Given the description of an element on the screen output the (x, y) to click on. 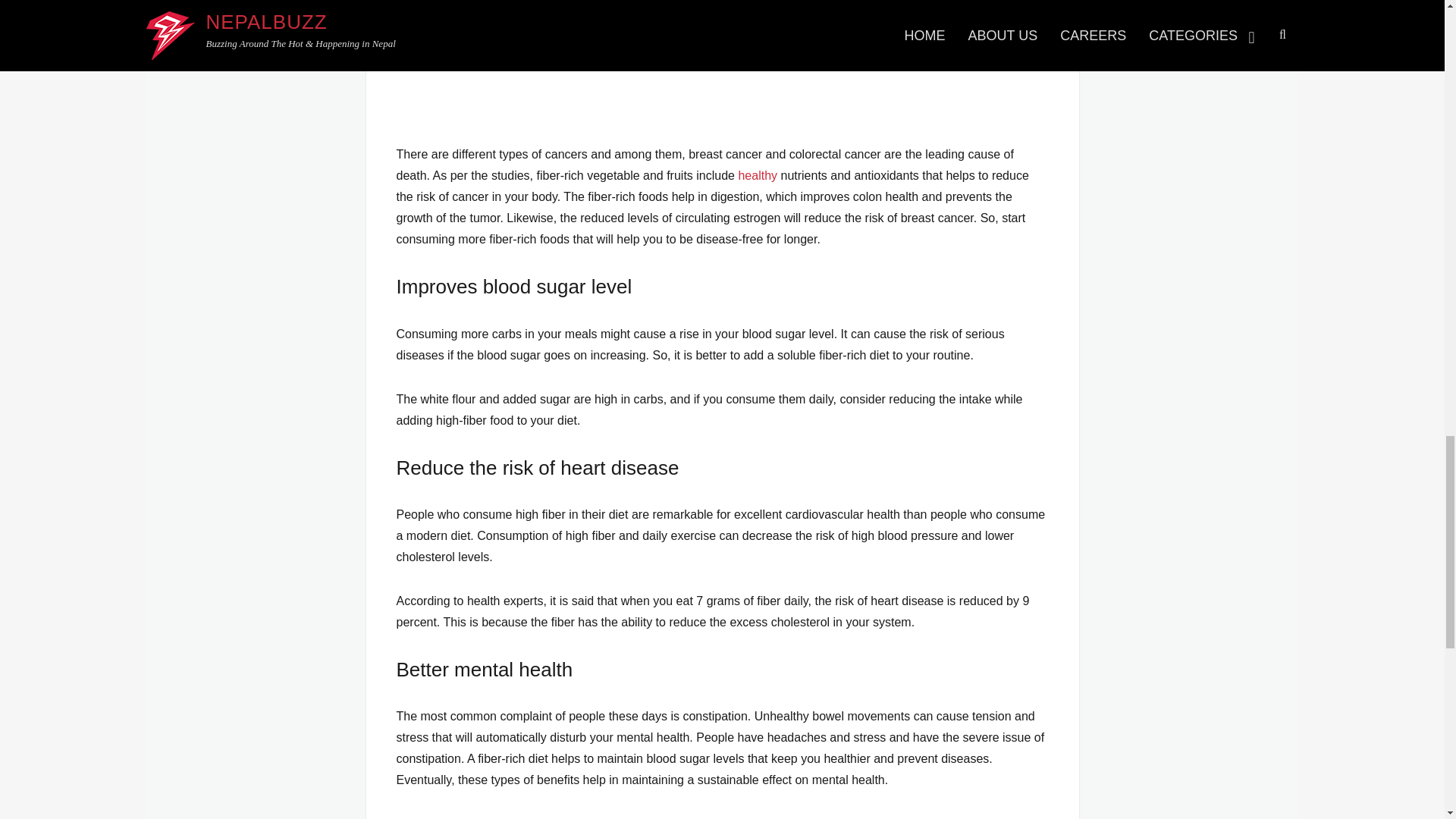
healthy (757, 174)
